Given the description of an element on the screen output the (x, y) to click on. 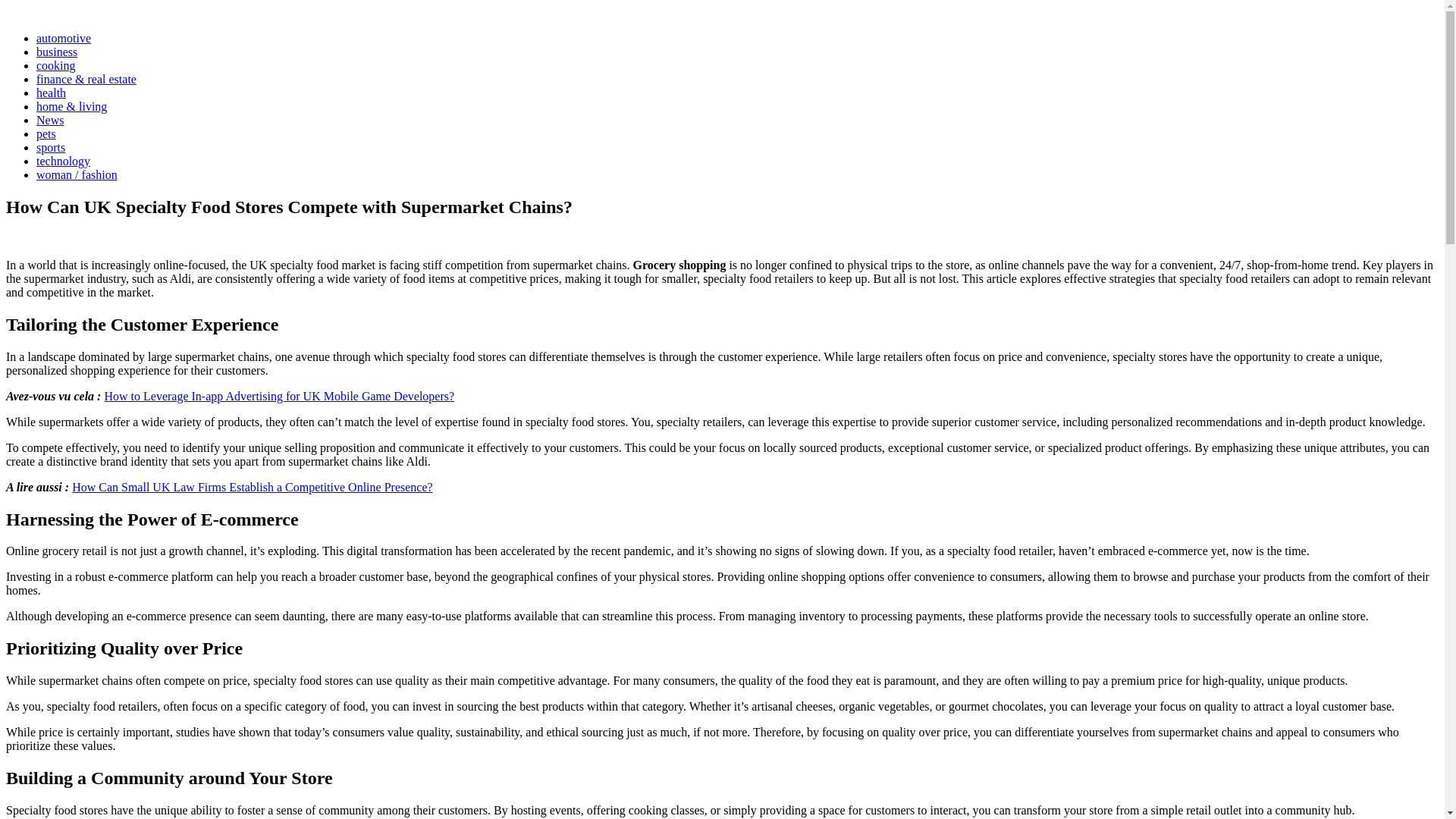
automotive (63, 38)
technology (63, 160)
cooking (55, 65)
sports (50, 146)
News (50, 119)
pets (46, 133)
health (50, 92)
business (56, 51)
